Given the description of an element on the screen output the (x, y) to click on. 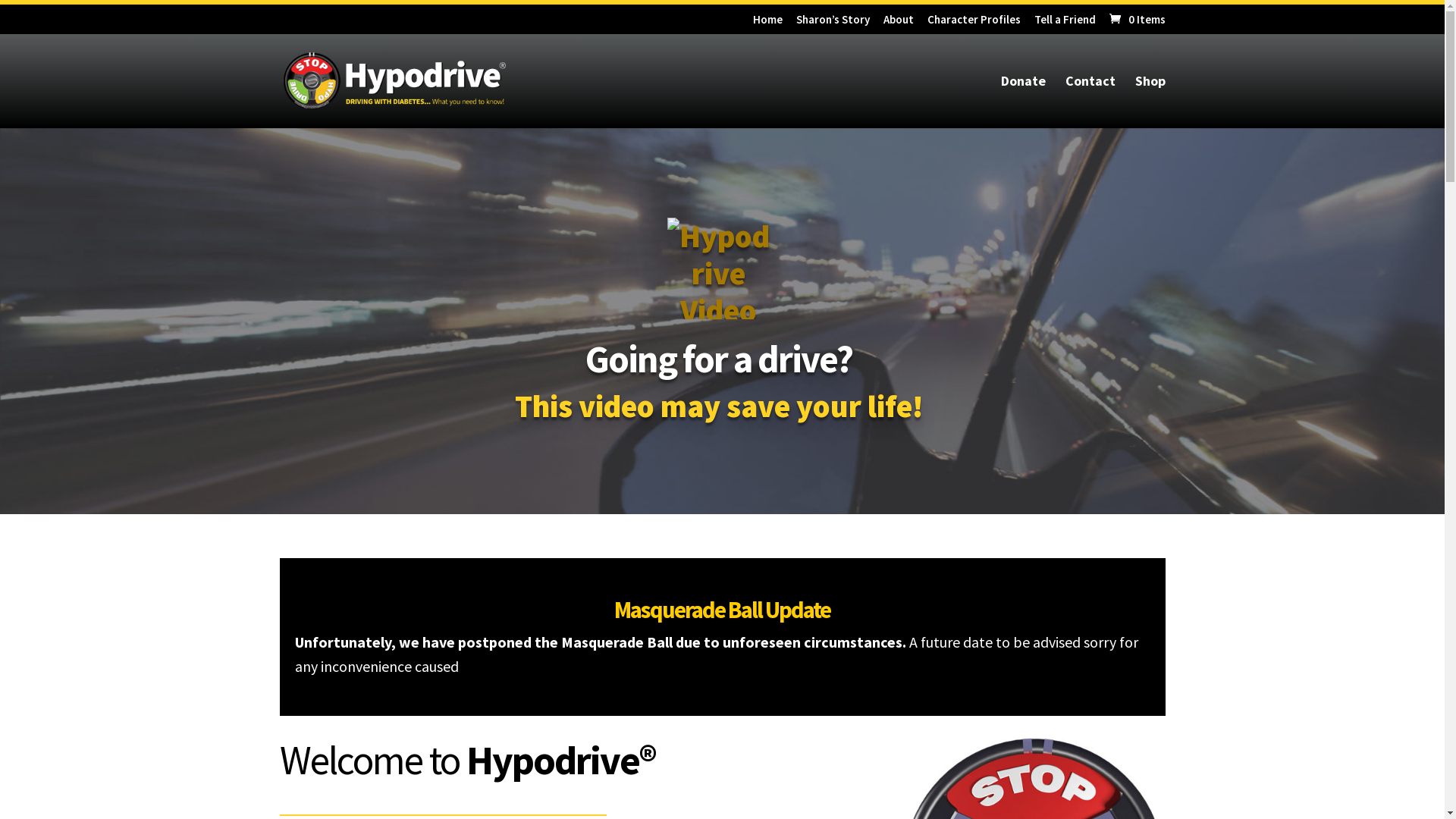
About Element type: text (897, 23)
Shop Element type: text (1149, 101)
0 Items Element type: text (1136, 19)
Home Element type: text (766, 23)
Character Profiles Element type: text (972, 23)
Donate Element type: text (1023, 101)
Tell a Friend Element type: text (1064, 23)
Contact Element type: text (1089, 101)
